Given the description of an element on the screen output the (x, y) to click on. 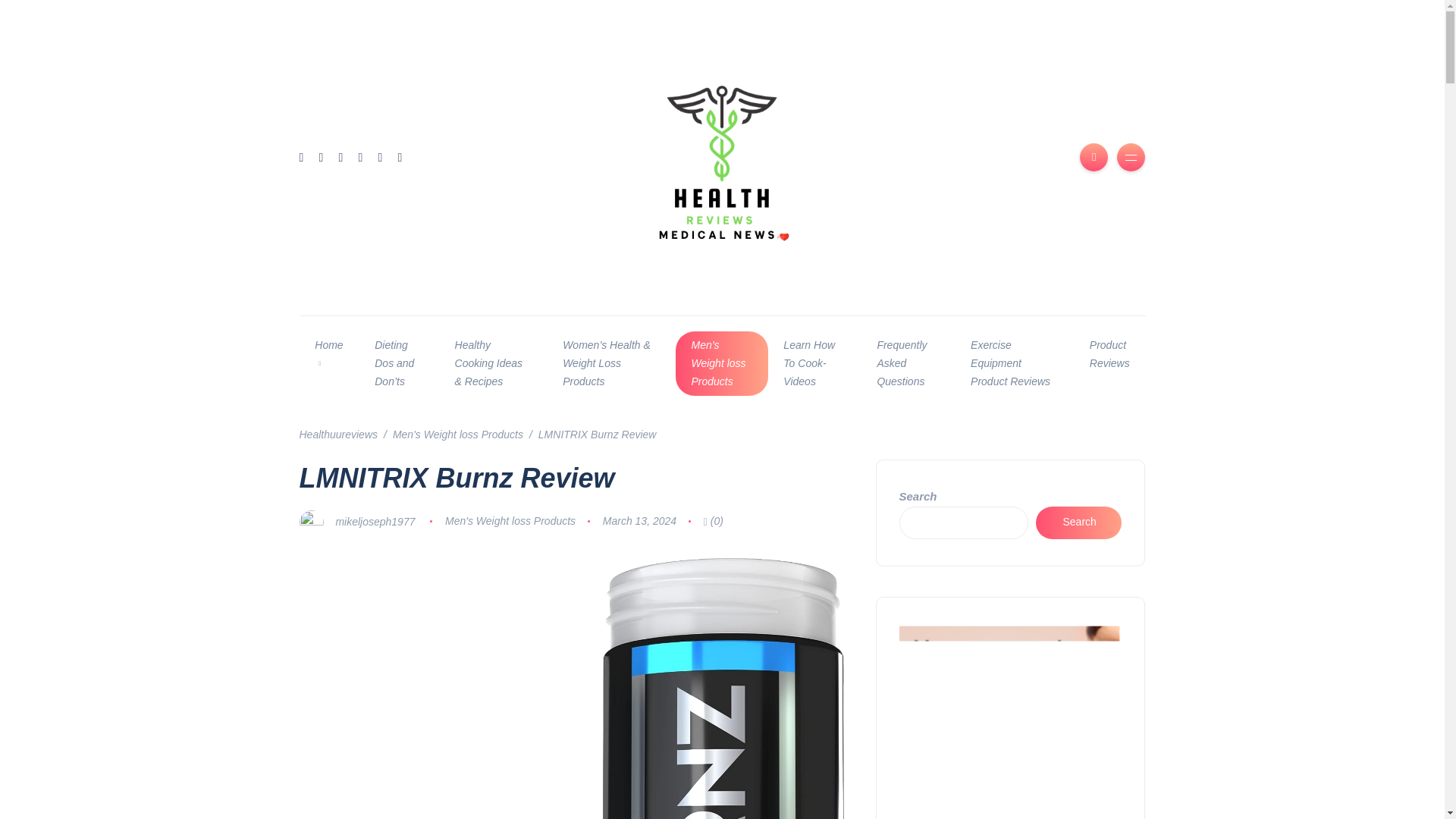
Home (328, 354)
Go to the Men's Weight loss Products Category archives. (457, 434)
Go to Healthuureviews. (337, 434)
Posts by mikeljoseph1977 (374, 521)
